Given the description of an element on the screen output the (x, y) to click on. 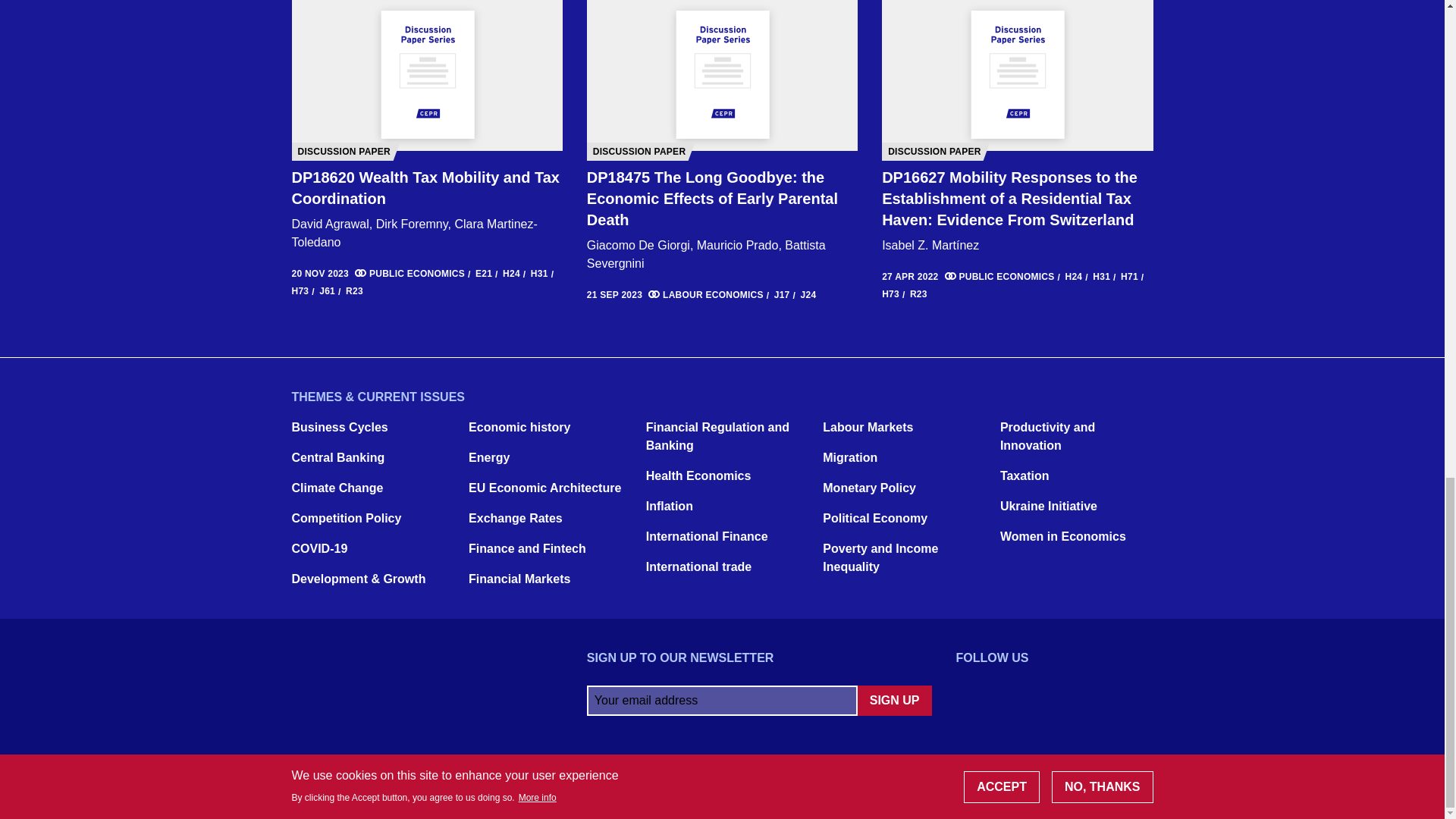
sign up (894, 700)
